Given the description of an element on the screen output the (x, y) to click on. 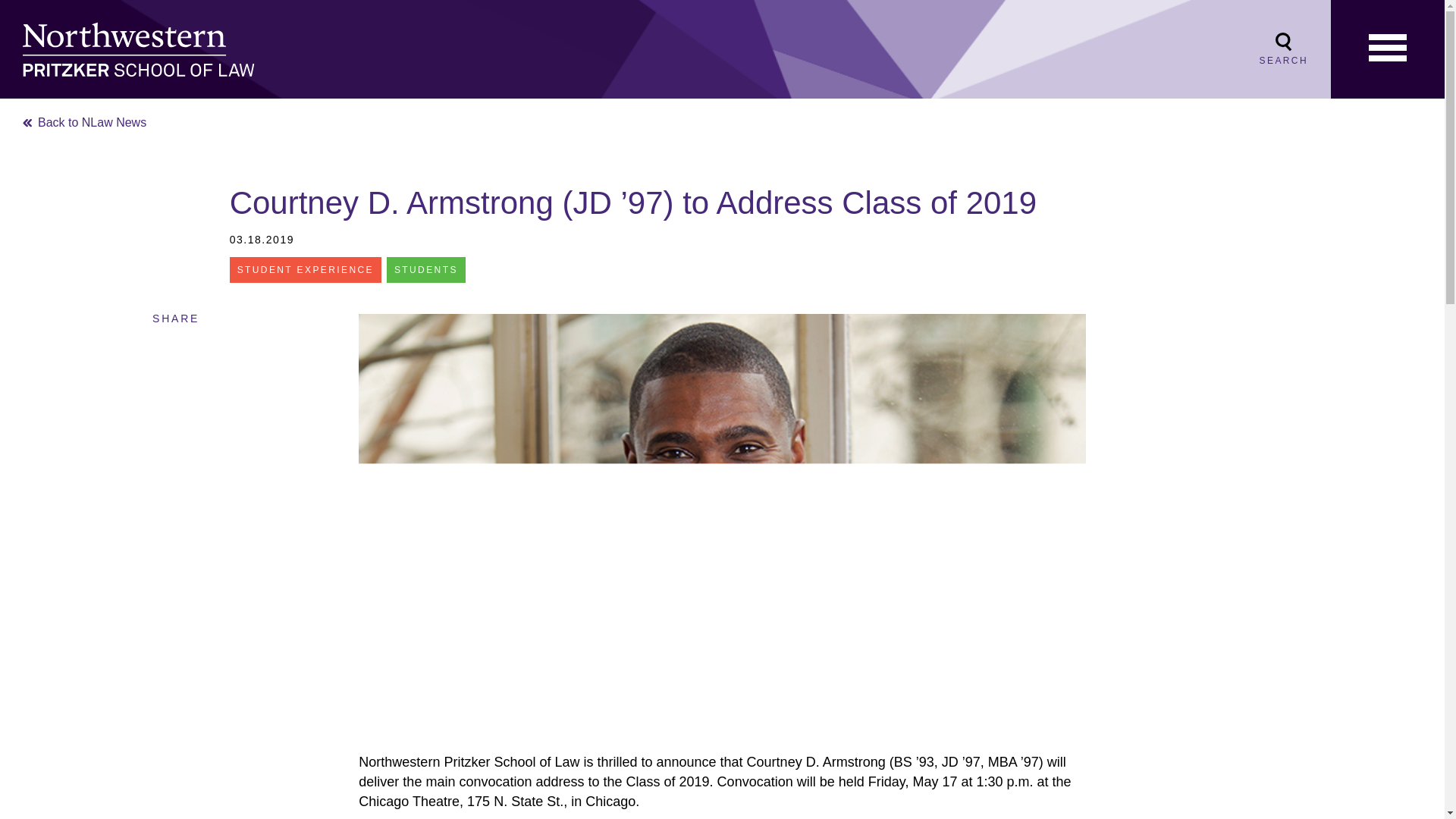
Back to NLaw News (85, 122)
STUDENTS (426, 269)
SEARCH (1283, 49)
STUDENT EXPERIENCE (305, 269)
